Given the description of an element on the screen output the (x, y) to click on. 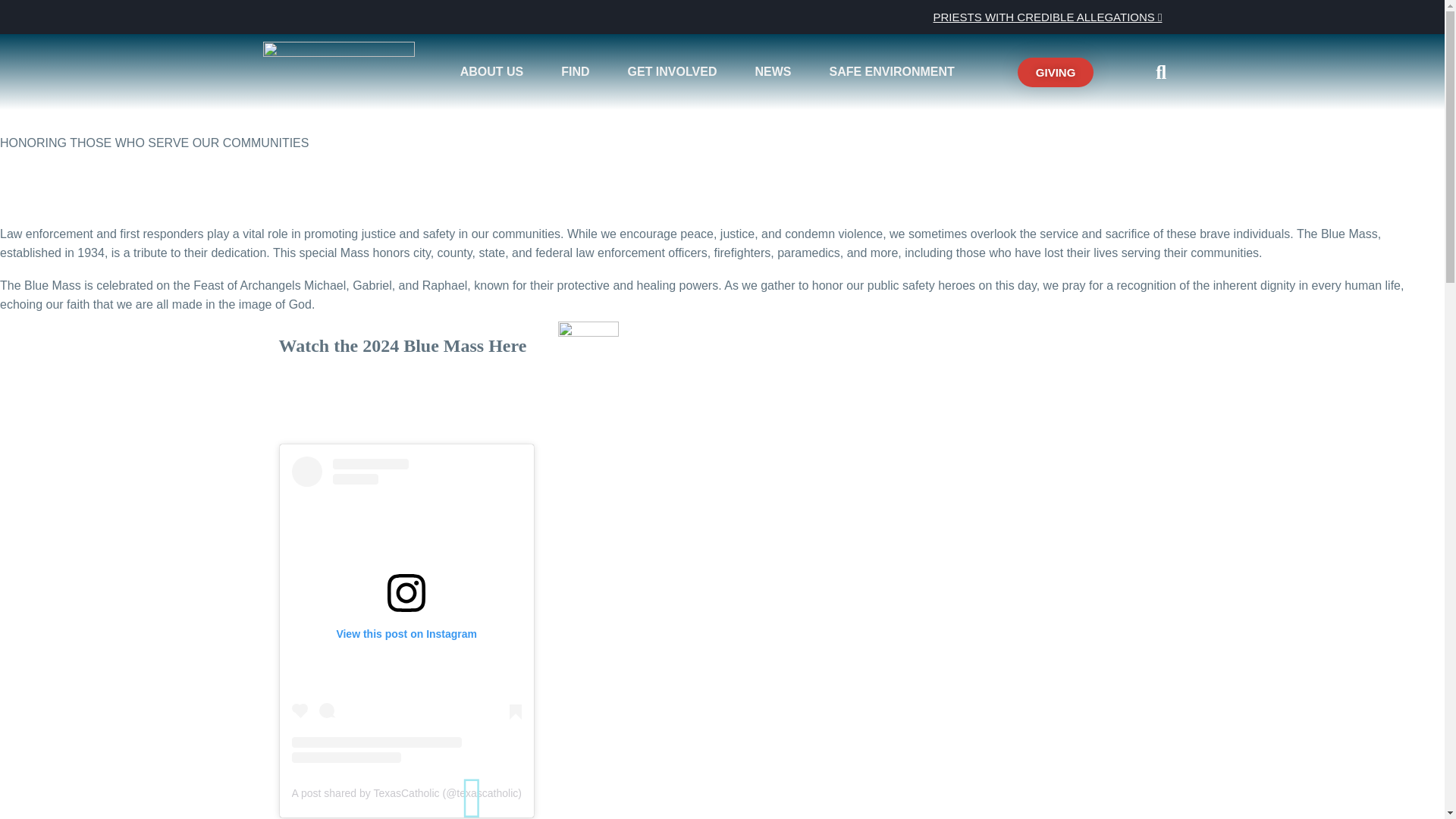
ABOUT US (496, 71)
SAFE ENVIRONMENT (894, 71)
GET INVOLVED (675, 71)
FIND (578, 71)
NEWS (776, 71)
